Given the description of an element on the screen output the (x, y) to click on. 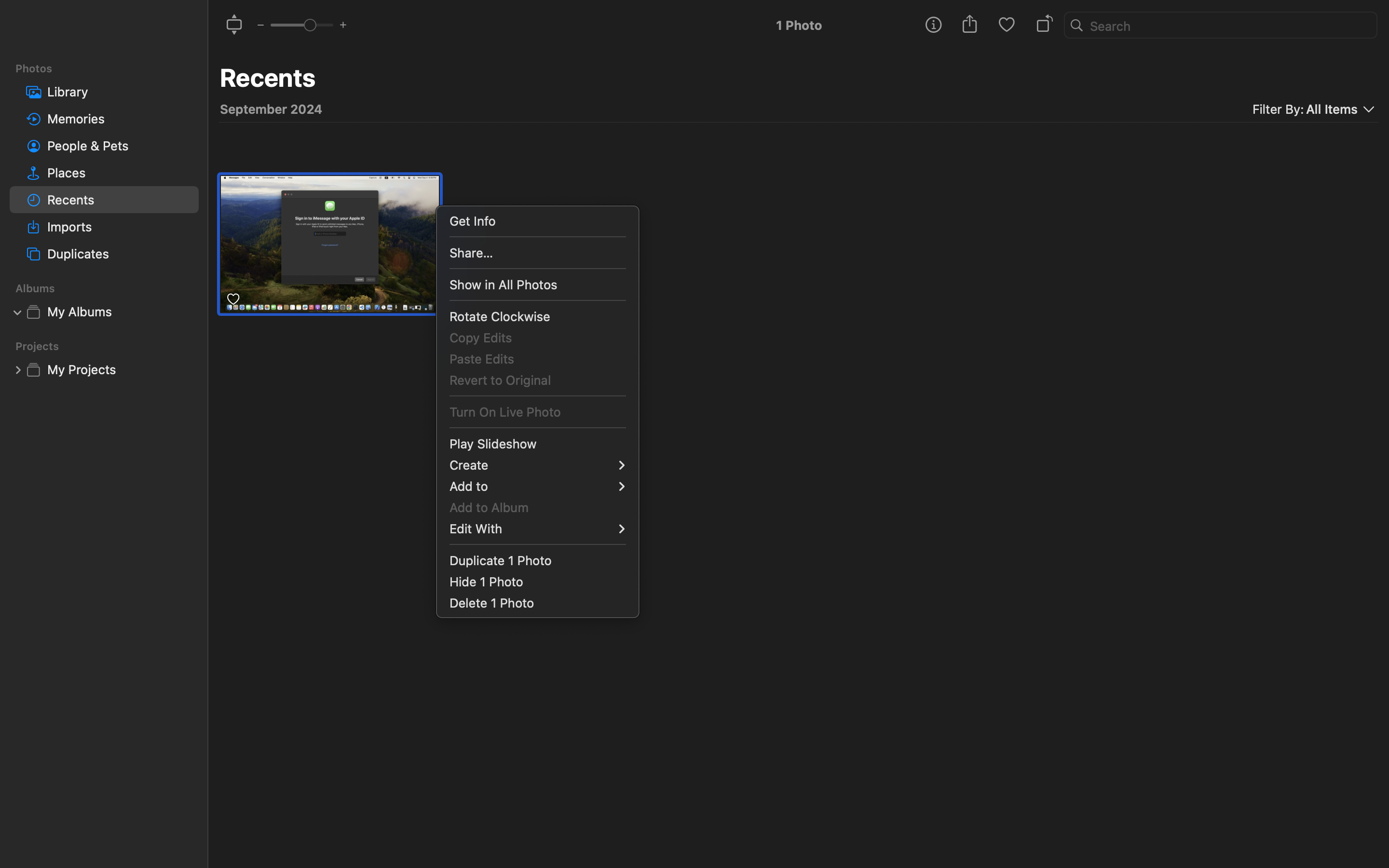
1 Photo Element type: AXStaticText (798, 24)
My Albums Element type: AXStaticText (118, 311)
1 Element type: AXDisclosureTriangle (17, 311)
Places Element type: AXStaticText (118, 172)
Filter By: Element type: AXStaticText (1277, 108)
